Given the description of an element on the screen output the (x, y) to click on. 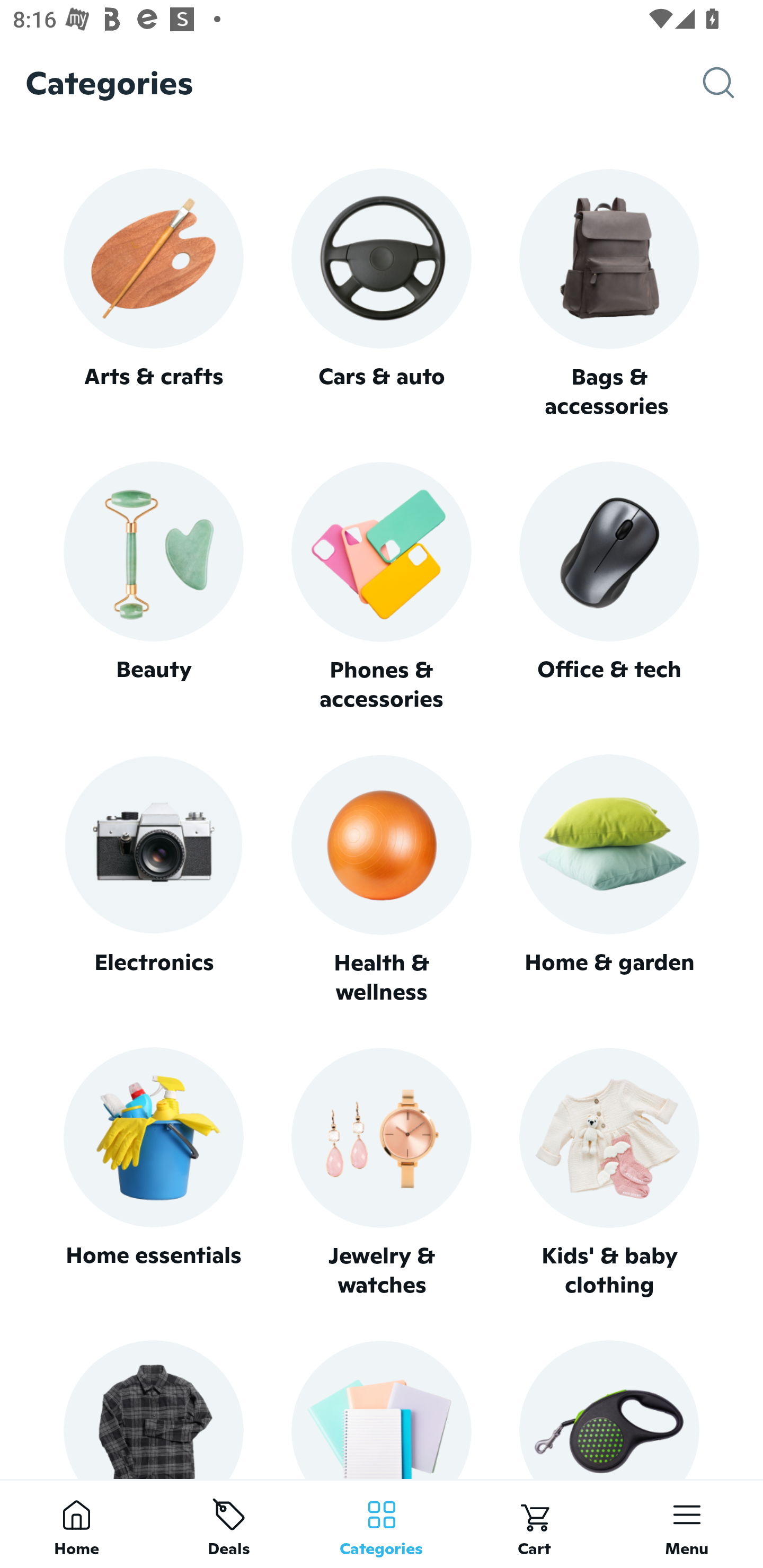
Search (732, 82)
Arts & crafts (153, 293)
Cars & auto (381, 293)
Bags & accessories  (609, 294)
Beauty (153, 586)
Office & tech (609, 586)
Phones & accessories (381, 587)
Electronics (153, 880)
Home & garden (609, 880)
Health & wellness (381, 880)
Home essentials (153, 1172)
Jewelry & watches (381, 1172)
Kids' & baby clothing (609, 1172)
Men's clothing (153, 1409)
Pet supplies (609, 1409)
Office & school supplies (381, 1409)
Home (76, 1523)
Deals (228, 1523)
Categories (381, 1523)
Cart (533, 1523)
Menu (686, 1523)
